Given the description of an element on the screen output the (x, y) to click on. 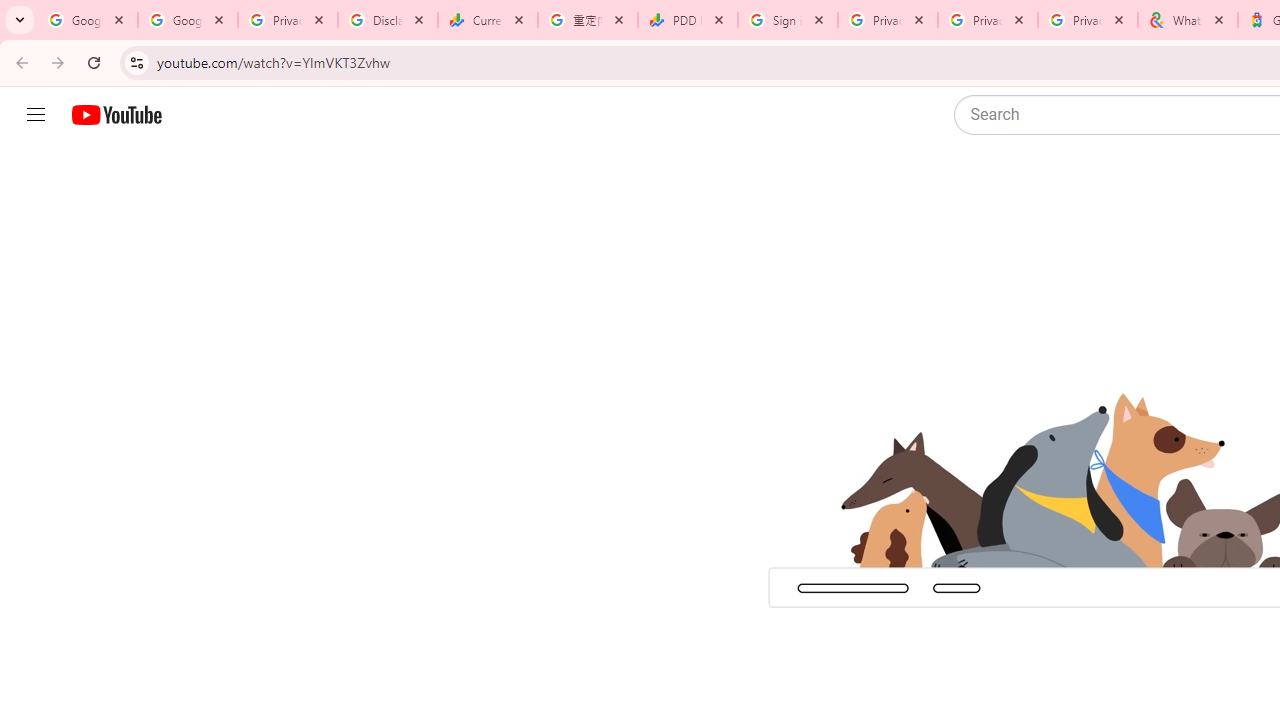
Privacy Checkup (1087, 20)
Guide (35, 115)
Google Workspace Admin Community (87, 20)
Sign in - Google Accounts (788, 20)
Currencies - Google Finance (487, 20)
PDD Holdings Inc - ADR (PDD) Price & News - Google Finance (687, 20)
YouTube Home (116, 115)
Privacy Checkup (988, 20)
